Given the description of an element on the screen output the (x, y) to click on. 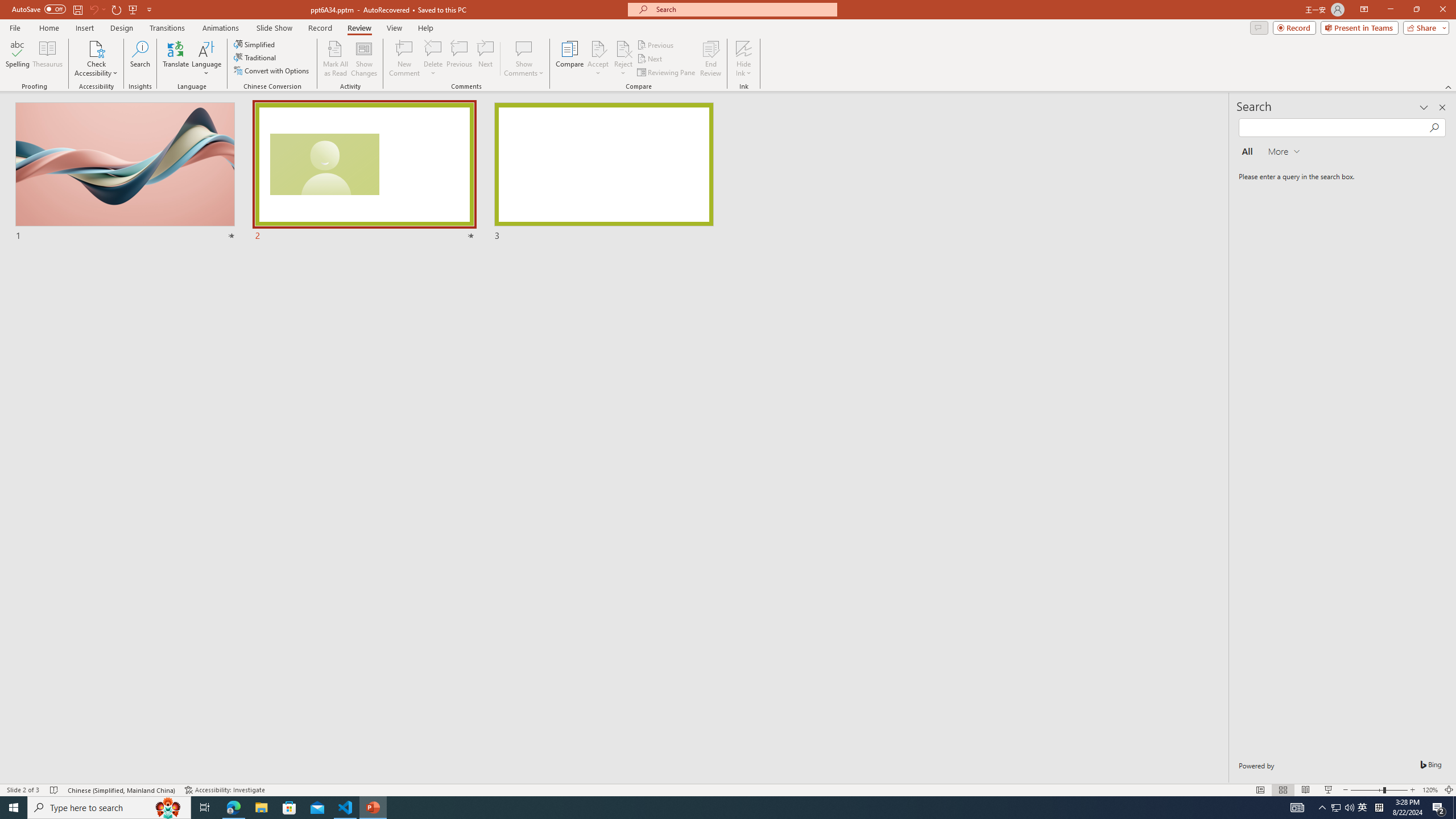
Convert with Options... (272, 69)
Thesaurus... (47, 58)
